Given the description of an element on the screen output the (x, y) to click on. 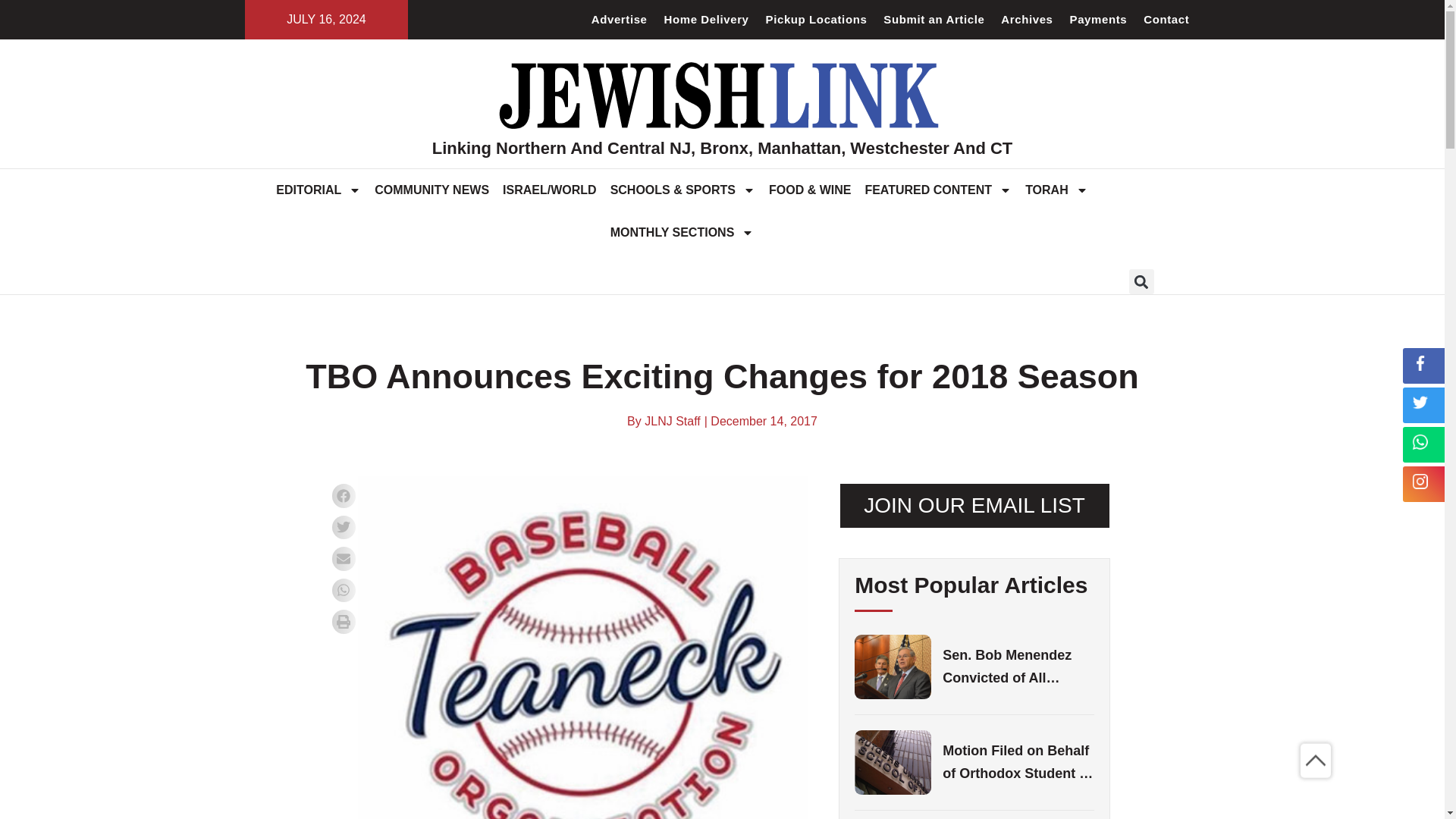
Contact (1165, 19)
Pickup Locations (816, 19)
Advertise (619, 19)
Submit an Article (933, 19)
Home Delivery (706, 19)
Payments (1098, 19)
Archives (1026, 19)
